Given the description of an element on the screen output the (x, y) to click on. 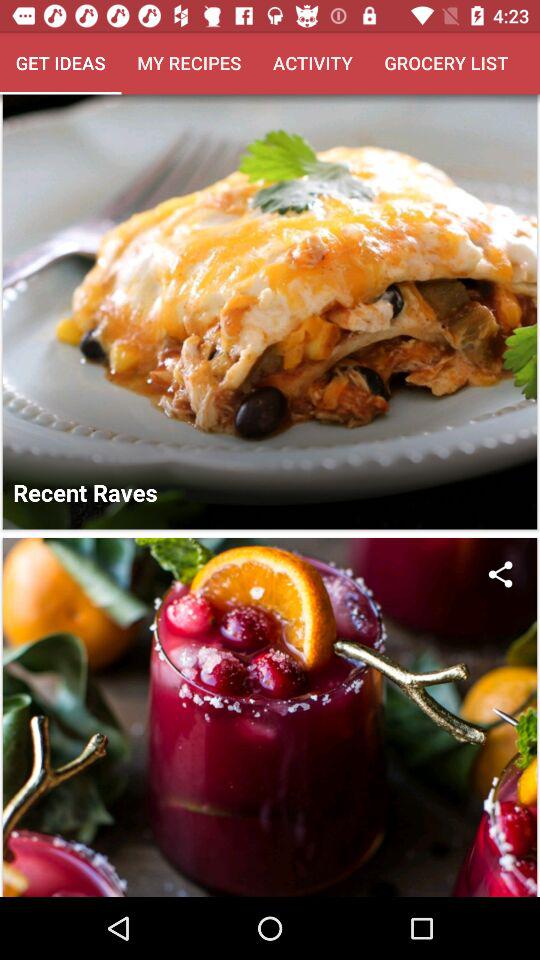
select the second picture (269, 716)
